Given the description of an element on the screen output the (x, y) to click on. 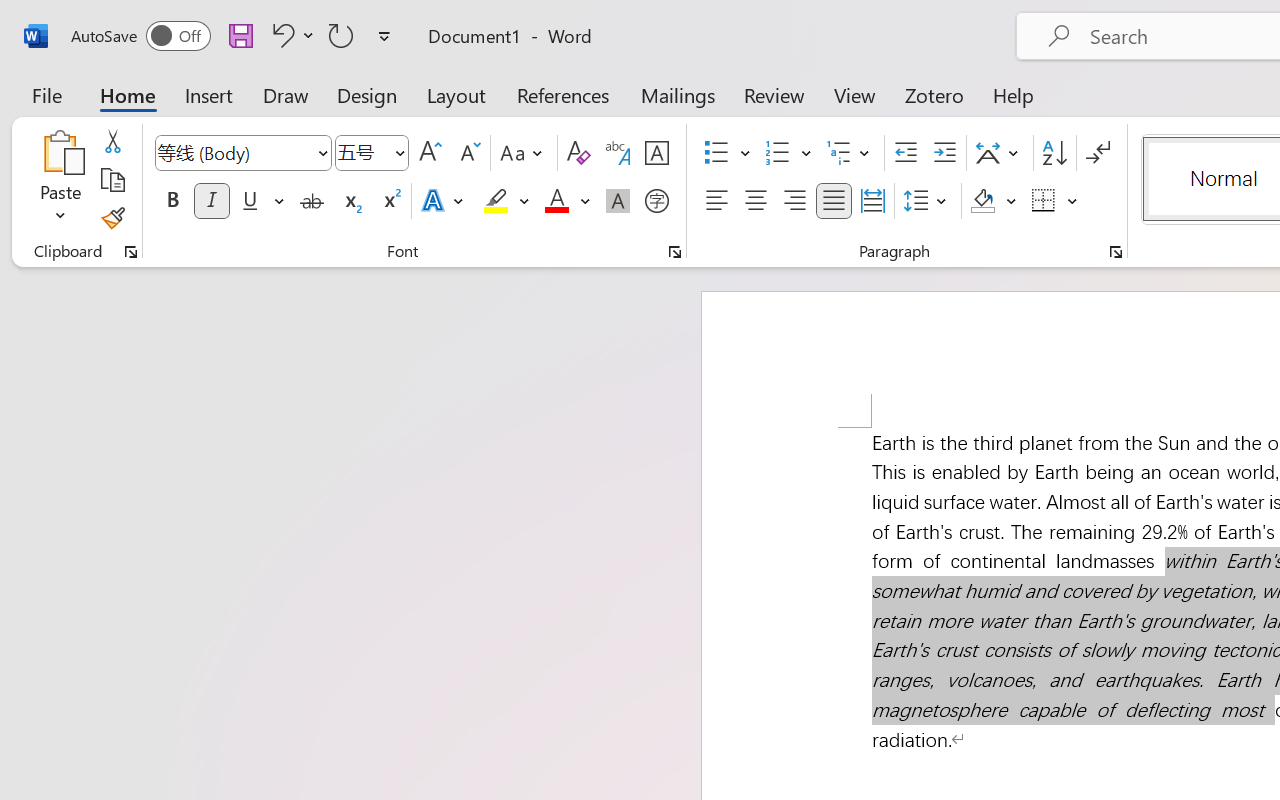
Cut (112, 141)
Subscript (350, 201)
Show/Hide Editing Marks (1098, 153)
Repeat Doc Close (341, 35)
Font... (675, 252)
